Given the description of an element on the screen output the (x, y) to click on. 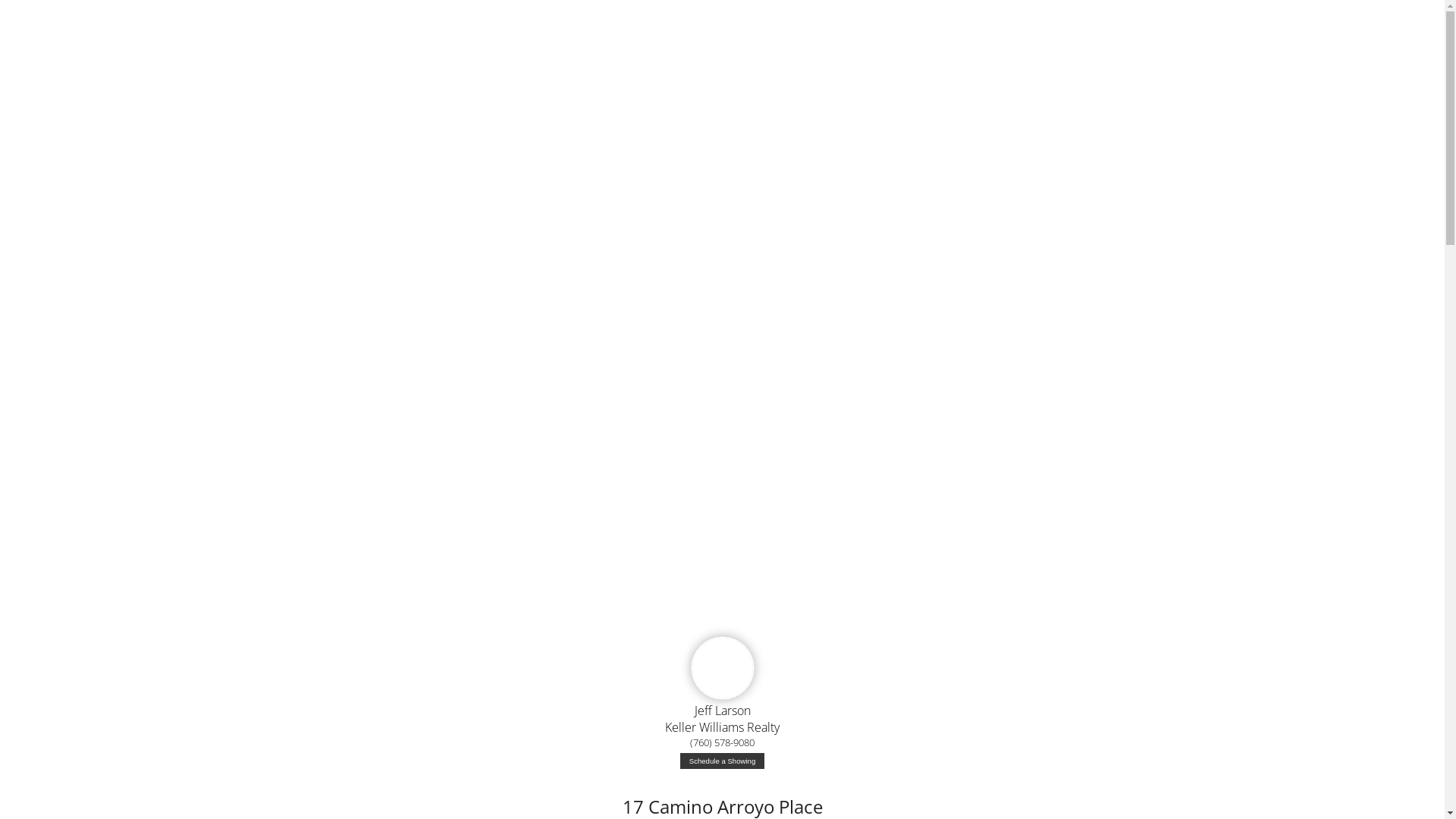
Schedule a Showing Element type: text (722, 760)
